Given the description of an element on the screen output the (x, y) to click on. 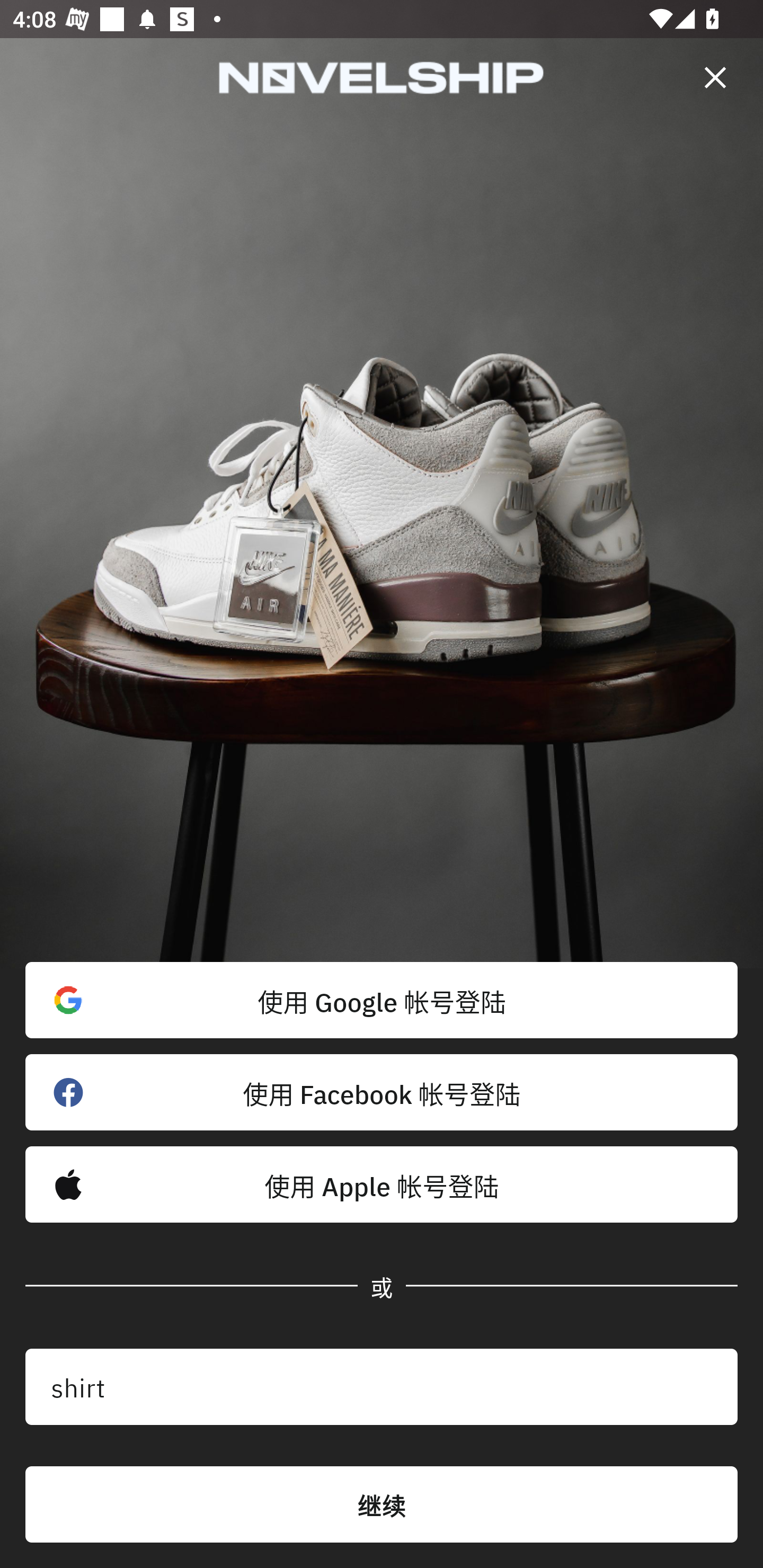
使用 Google 帐号登陆 (381, 1000)
使用 Facebook 帐号登陆 󰈌 (381, 1091)
 使用 Apple 帐号登陆 (381, 1184)
shirt (381, 1386)
继续 (381, 1504)
